Given the description of an element on the screen output the (x, y) to click on. 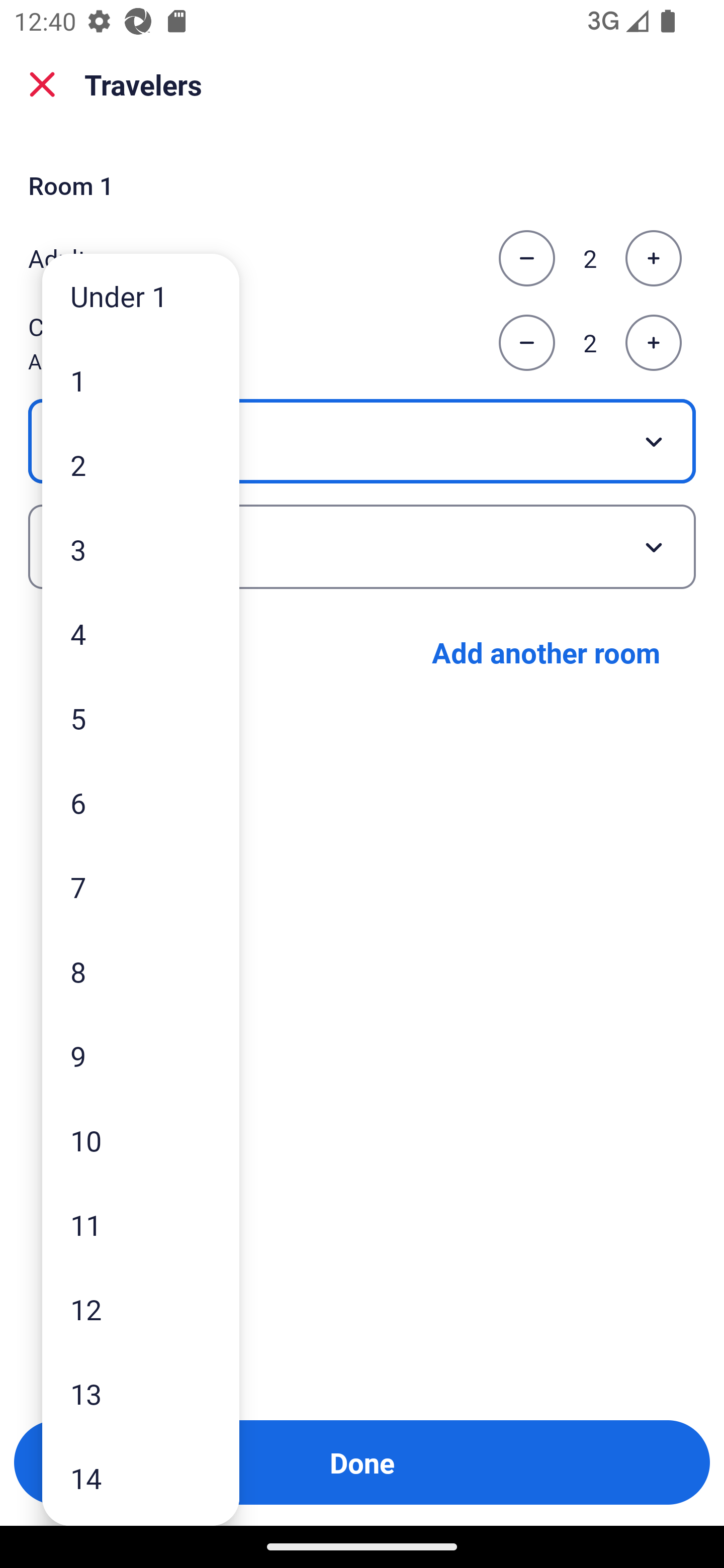
Under 1 (140, 296)
1 (140, 380)
2 (140, 464)
3 (140, 548)
4 (140, 633)
5 (140, 717)
6 (140, 802)
7 (140, 887)
8 (140, 970)
9 (140, 1054)
10 (140, 1139)
11 (140, 1224)
12 (140, 1308)
13 (140, 1393)
14 (140, 1478)
